Given the description of an element on the screen output the (x, y) to click on. 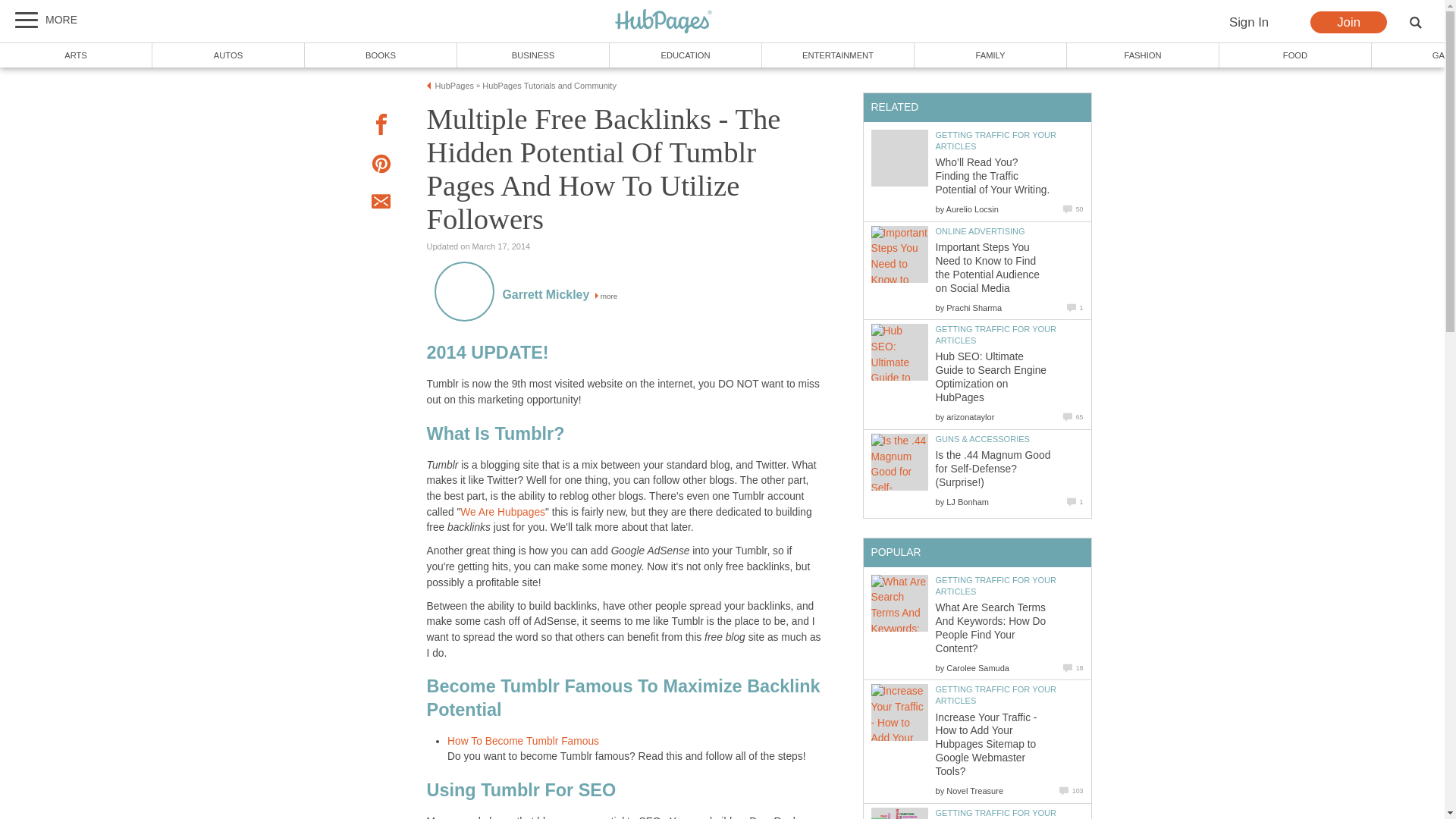
ENTERTAINMENT (837, 55)
ARTS (76, 55)
HubPages (663, 22)
FAMILY (990, 55)
FOOD (1295, 55)
Sign In (1248, 22)
Join (1348, 22)
Garrett Mickley more (559, 295)
BOOKS (380, 55)
Email (380, 203)
FASHION (1143, 55)
AUTOS (228, 55)
HubPages (663, 22)
HubPages (454, 85)
